Given the description of an element on the screen output the (x, y) to click on. 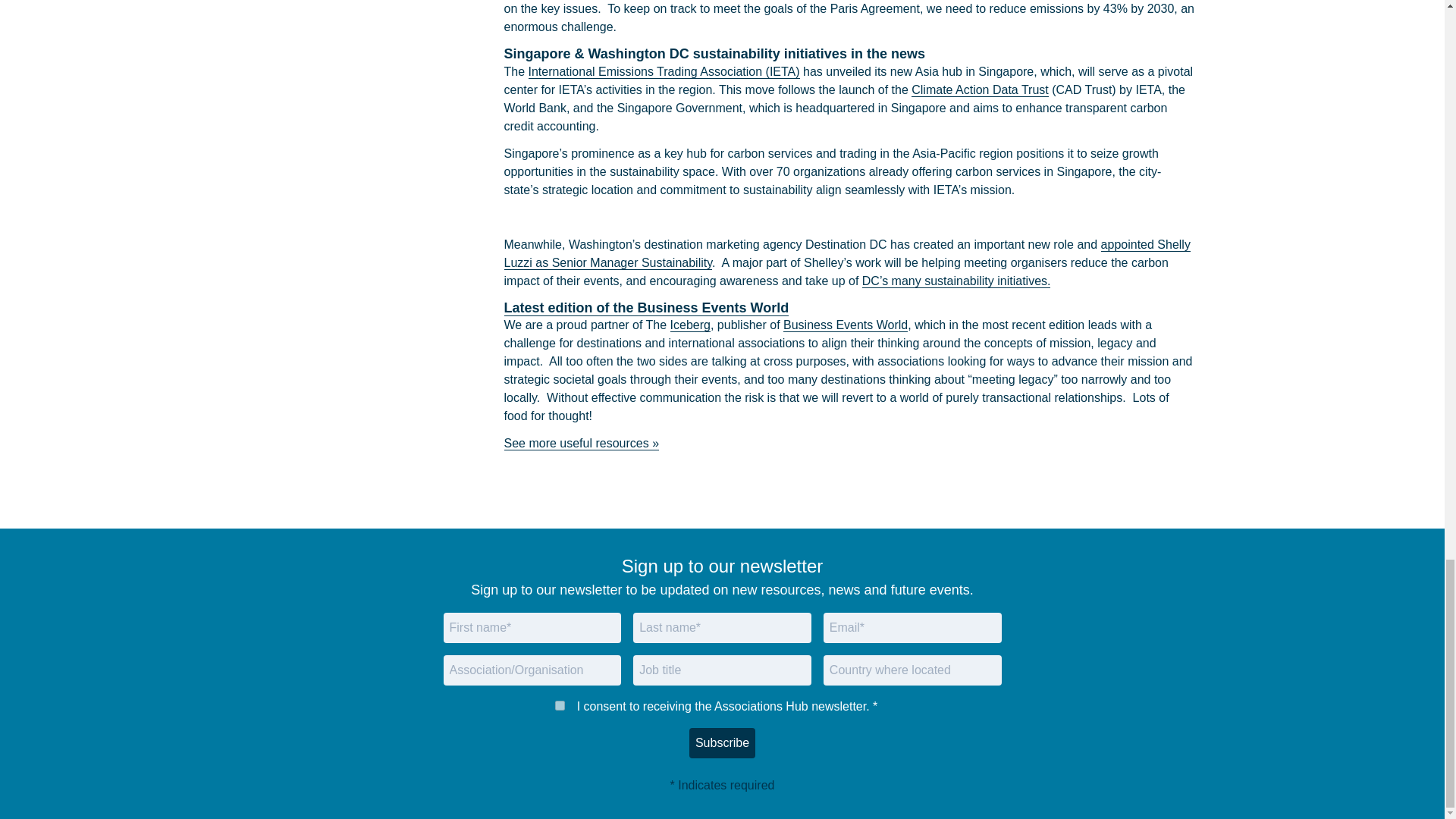
Subscribe (721, 743)
Iceberg (689, 325)
Climate Action Data Trust (979, 90)
appointed Shelly Luzzi as Senior Manager Sustainability (846, 254)
Latest edition of the Business Events World (646, 308)
Business Events World (845, 325)
on (559, 705)
